Given the description of an element on the screen output the (x, y) to click on. 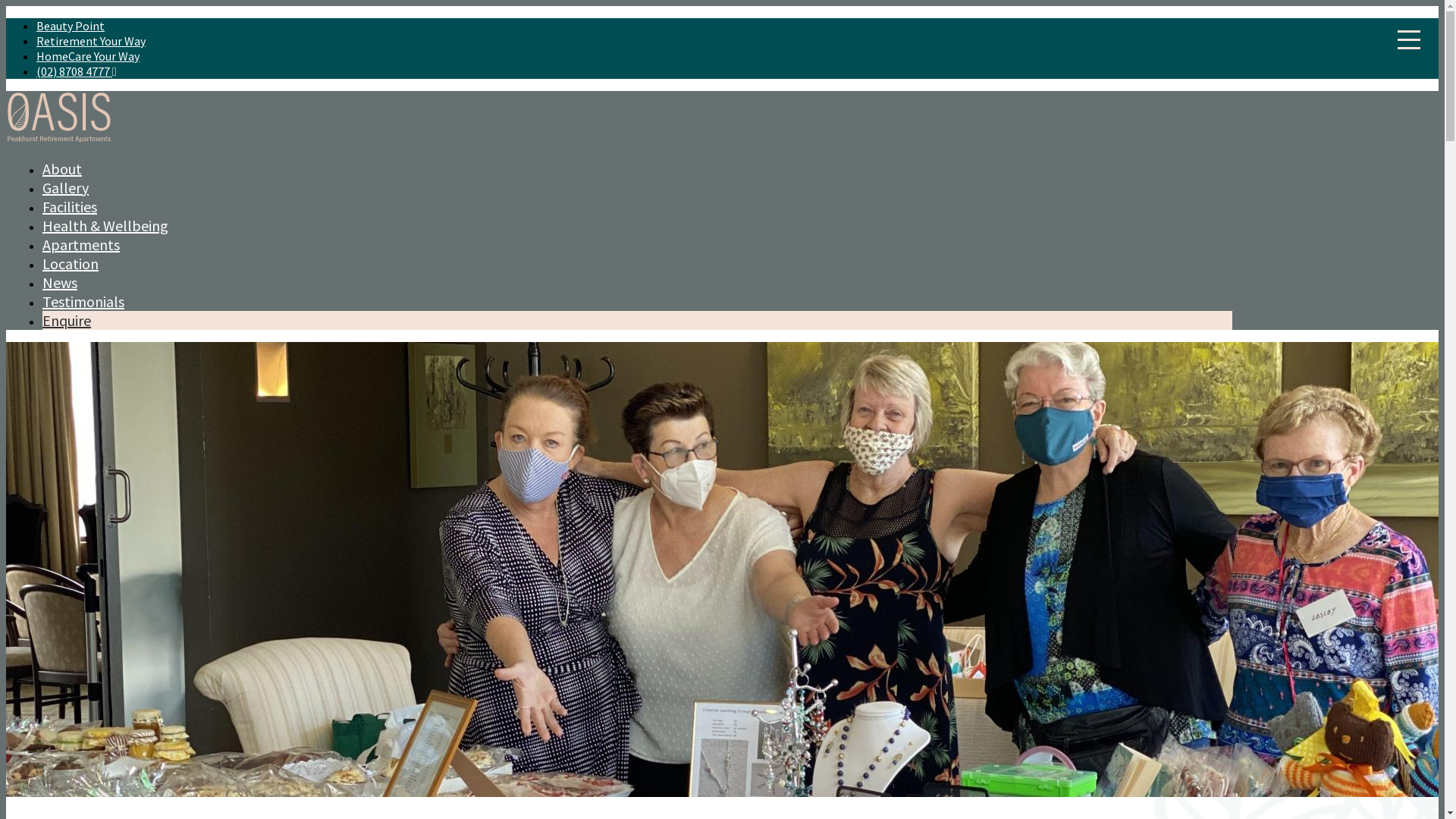
Beauty Point Element type: text (70, 25)
HomeCare Your Way Element type: text (87, 55)
Health & Wellbeing Element type: text (105, 225)
Apartments Element type: text (80, 244)
News Element type: text (59, 282)
(02) 8708 4777 Element type: text (76, 70)
About Element type: text (61, 168)
Retirement Your Way Element type: text (90, 40)
Gallery Element type: text (65, 187)
Testimonials Element type: text (83, 300)
Location Element type: text (70, 263)
Enquire Element type: text (66, 319)
Facilities Element type: text (69, 206)
